Given the description of an element on the screen output the (x, y) to click on. 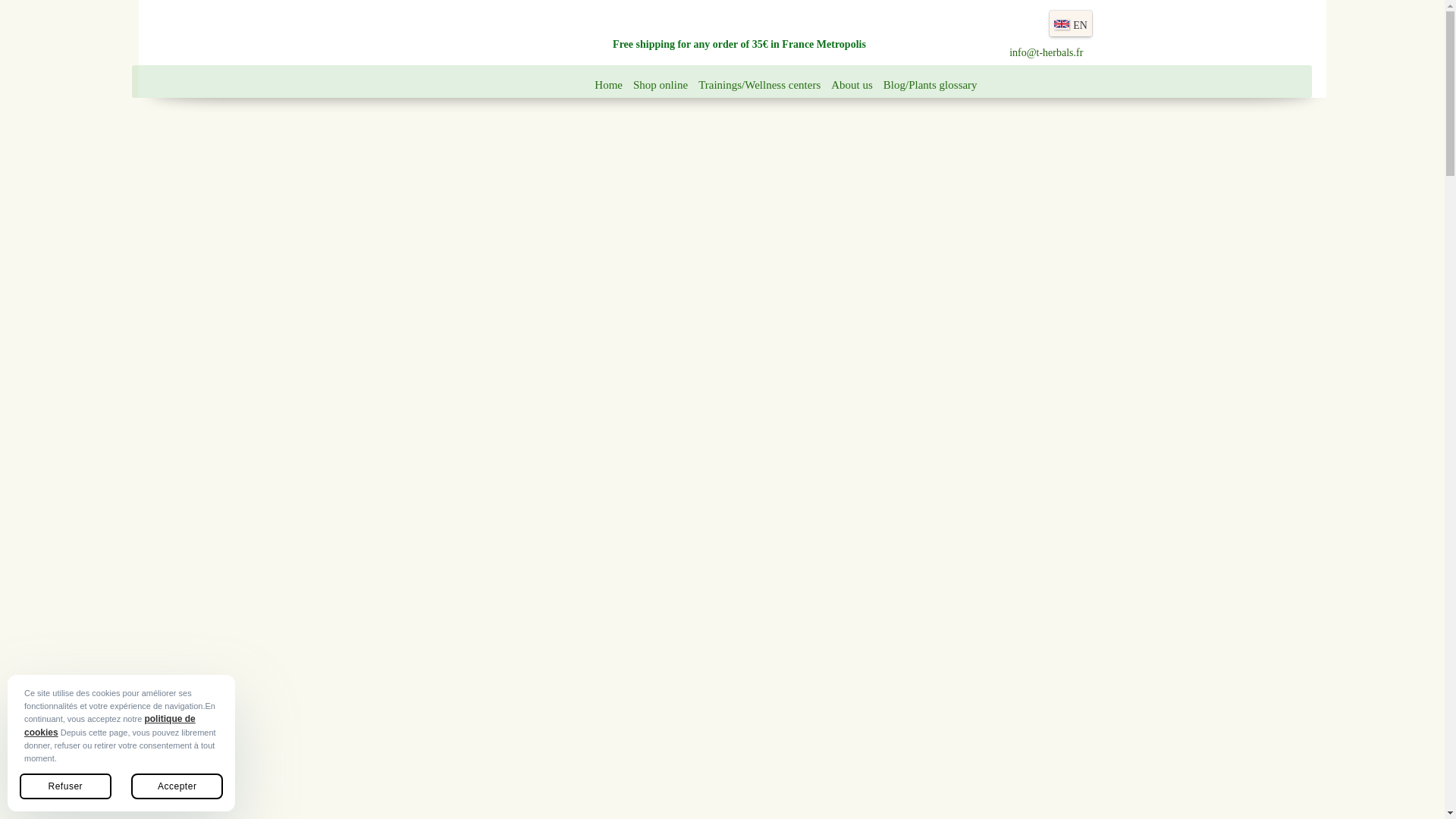
politique de cookies (109, 725)
